Given the description of an element on the screen output the (x, y) to click on. 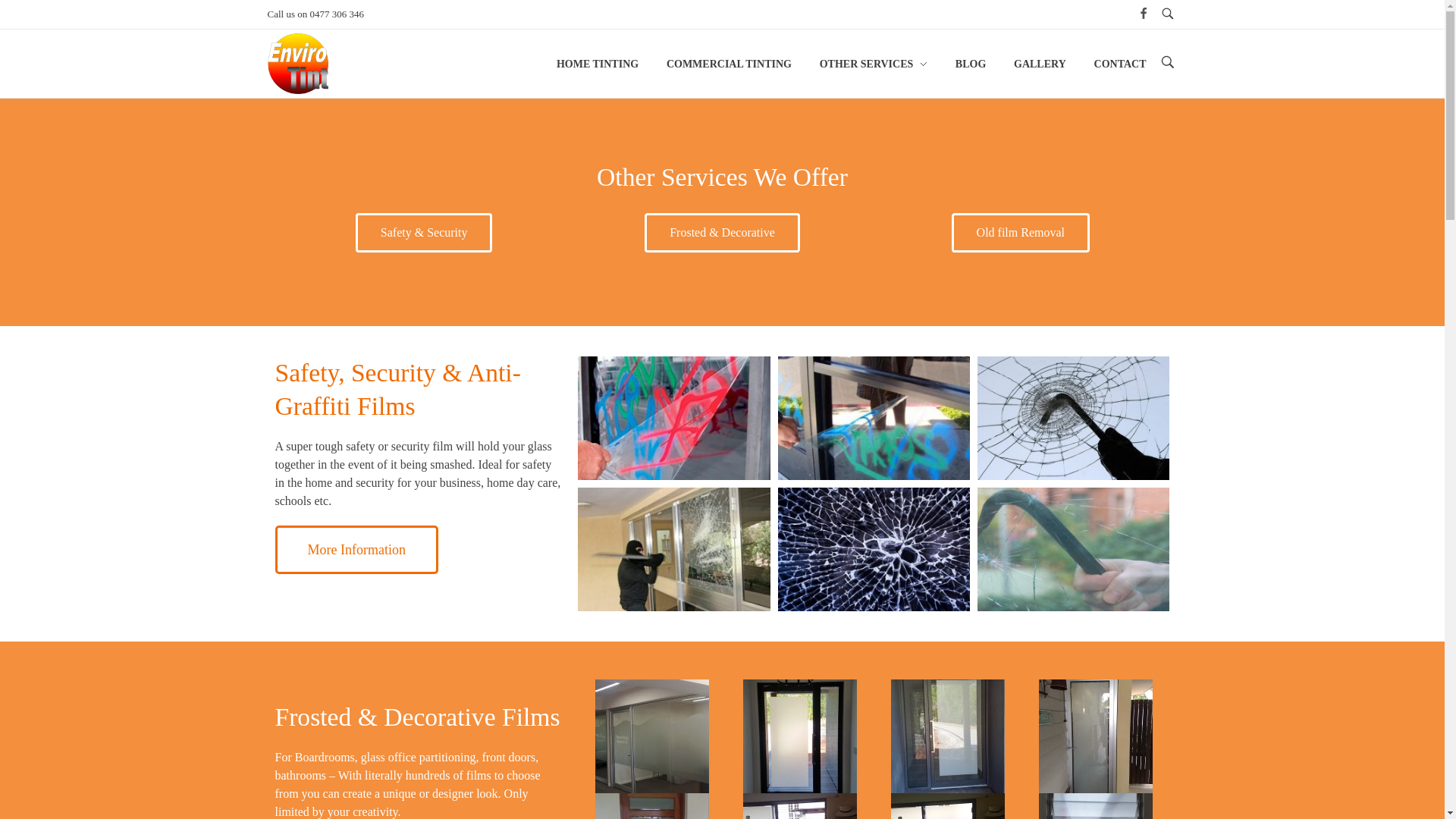
COMMERCIAL TINTING Element type: text (729, 63)
More Information Element type: text (355, 549)
Safety & Security Element type: text (423, 232)
HOME TINTING Element type: text (604, 63)
Old film Removal Element type: text (1020, 232)
OTHER SERVICES Element type: text (873, 63)
Frosted & Decorative Element type: text (722, 232)
BLOG Element type: text (970, 63)
GALLERY Element type: text (1040, 63)
CONTACT Element type: text (1112, 63)
